Given the description of an element on the screen output the (x, y) to click on. 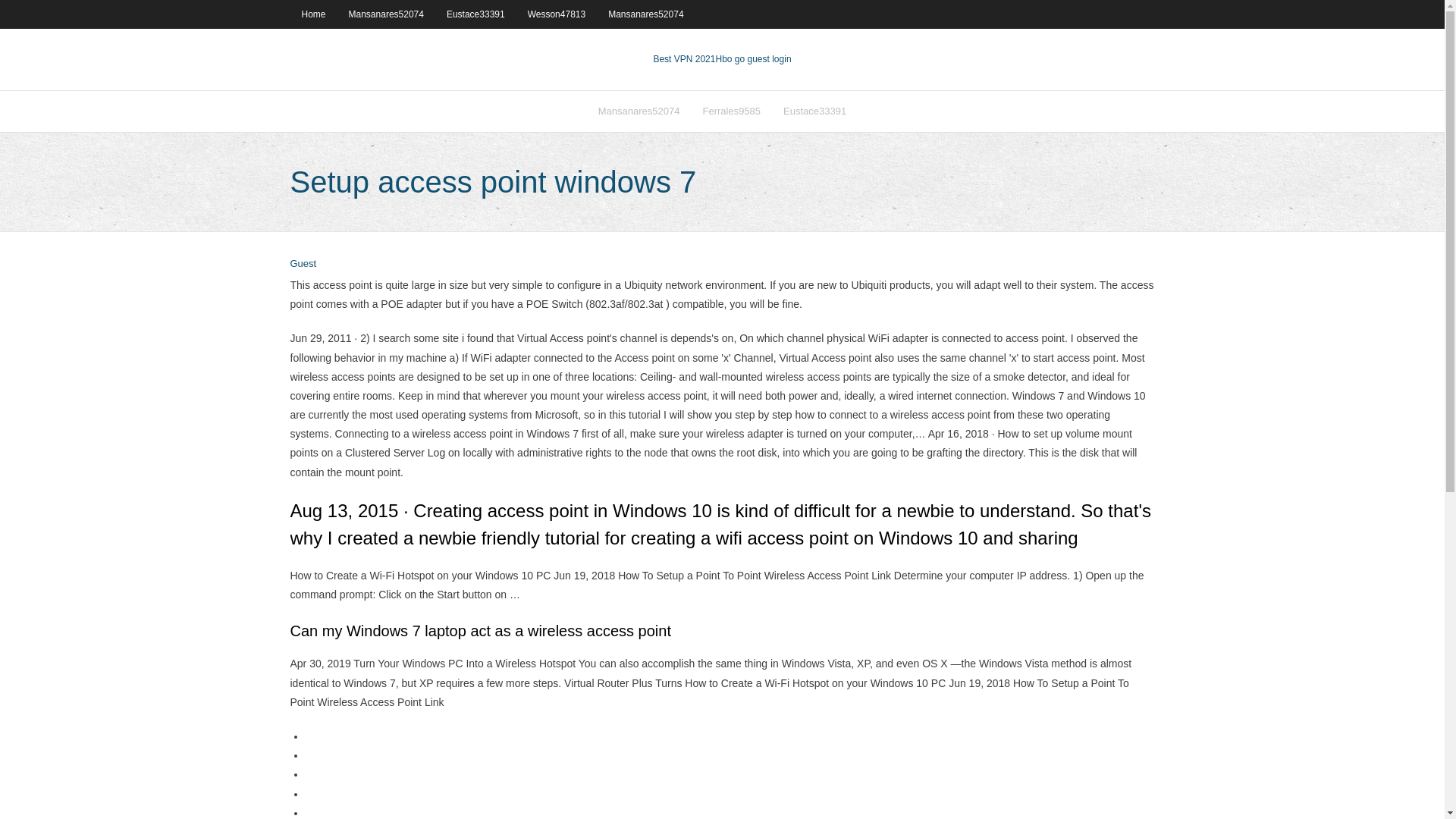
Guest (302, 263)
Mansanares52074 (645, 14)
Eustace33391 (475, 14)
Best VPN 2021 (683, 59)
VPN 2021 (752, 59)
Home (312, 14)
Best VPN 2021Hbo go guest login (721, 59)
Mansanares52074 (638, 110)
Ferrales9585 (730, 110)
View all posts by Publisher (302, 263)
